Given the description of an element on the screen output the (x, y) to click on. 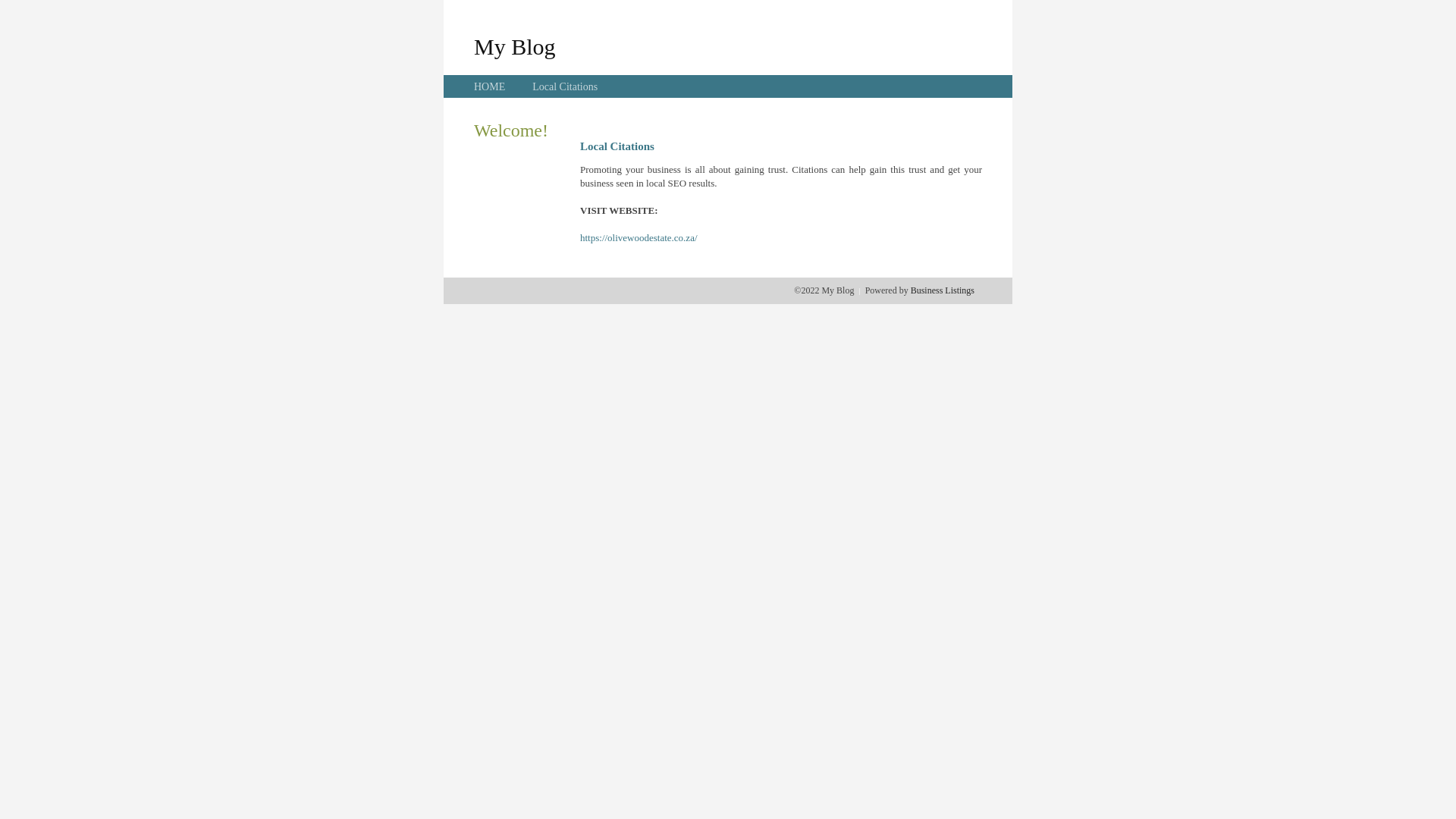
HOME Element type: text (489, 86)
https://olivewoodestate.co.za/ Element type: text (638, 237)
Local Citations Element type: text (564, 86)
Business Listings Element type: text (942, 290)
My Blog Element type: text (514, 46)
